Given the description of an element on the screen output the (x, y) to click on. 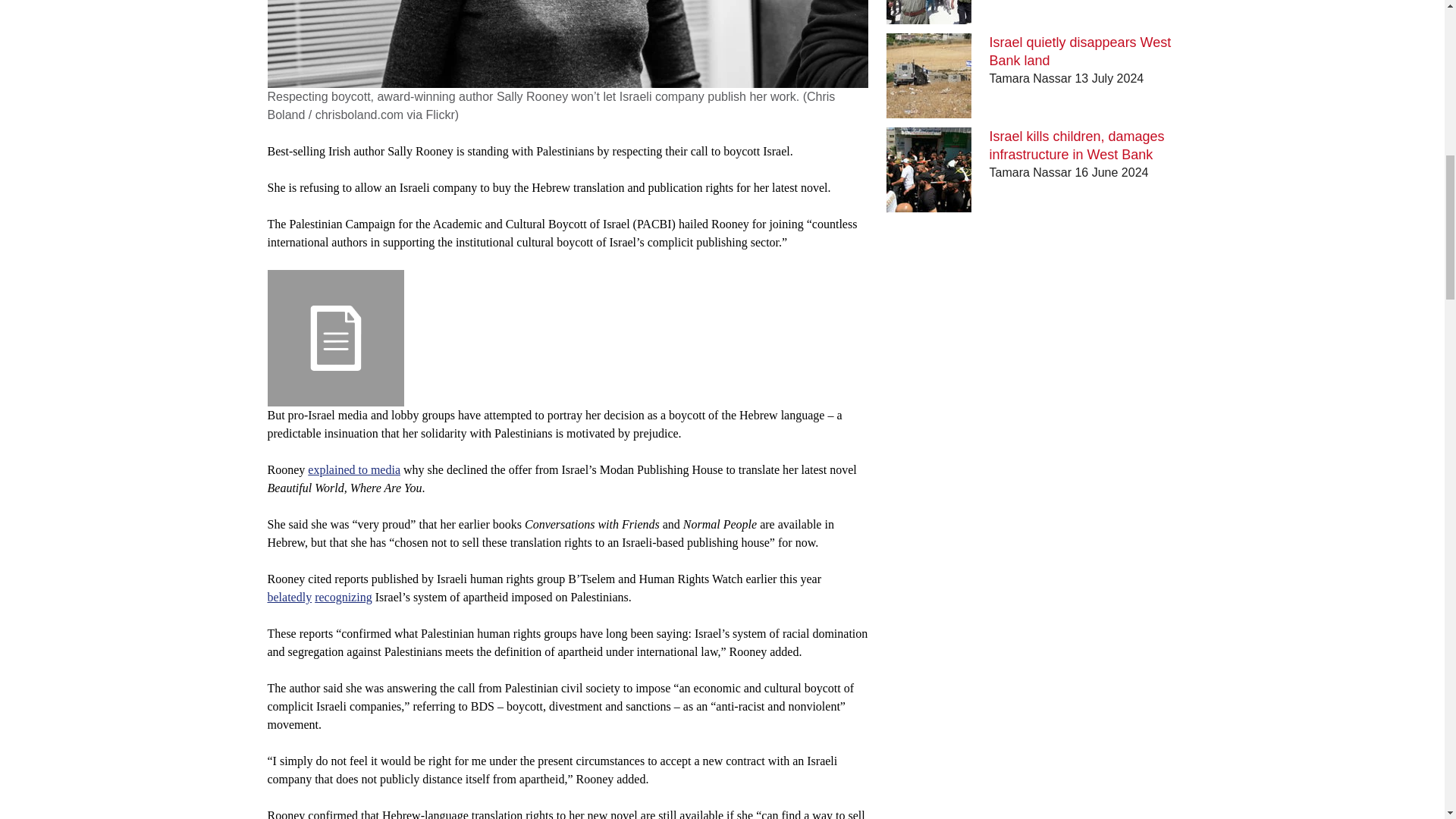
explained to media (353, 469)
recognizing (343, 596)
chrisboland.com (359, 114)
belatedly (288, 596)
